Given the description of an element on the screen output the (x, y) to click on. 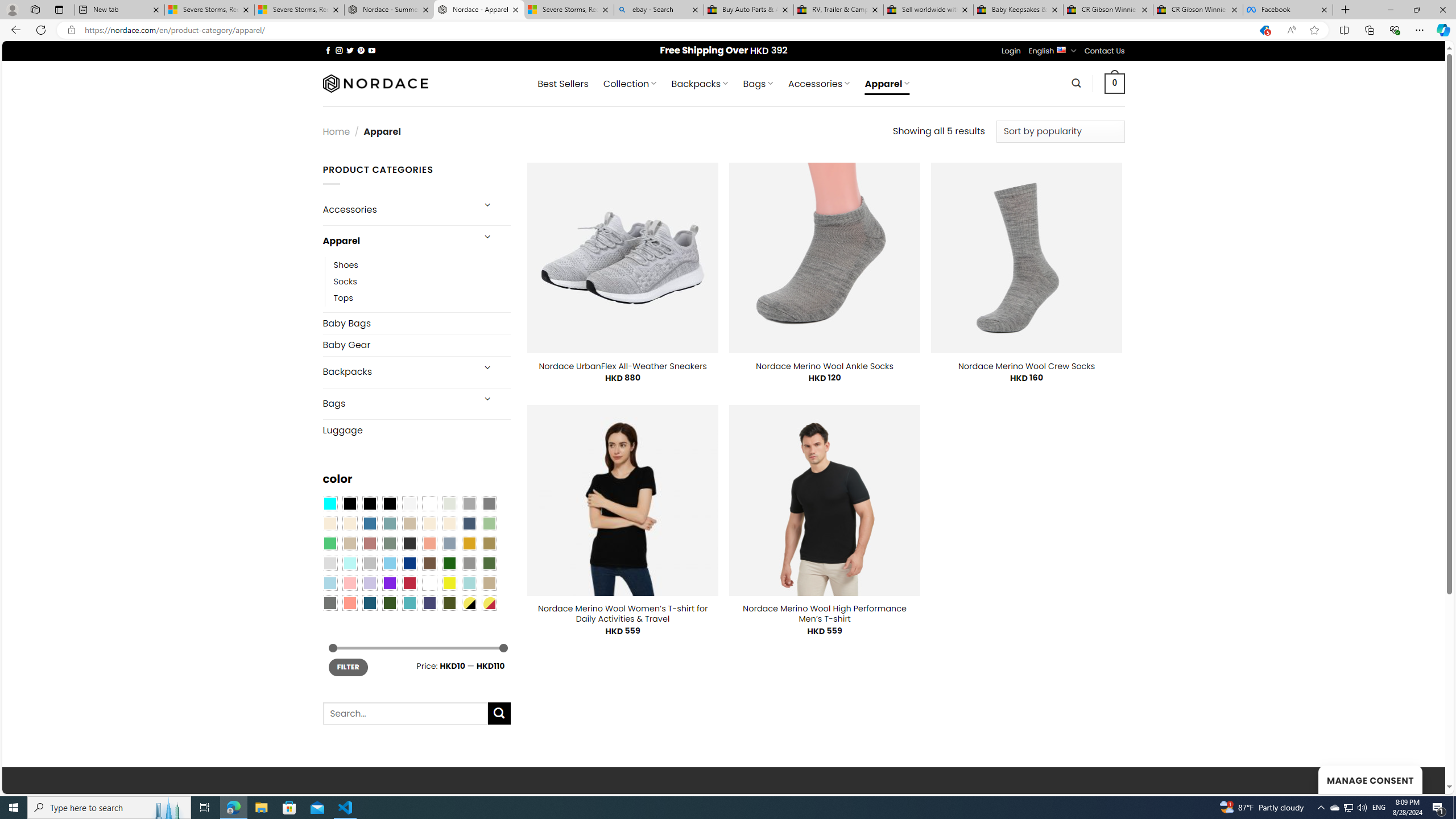
Submit (499, 712)
Baby Bags (416, 323)
Gray (468, 562)
Hale Navy (468, 522)
Light Taupe (349, 542)
Black-Brown (389, 503)
Brownie (408, 522)
Mint (349, 562)
Shoes (422, 264)
